Given the description of an element on the screen output the (x, y) to click on. 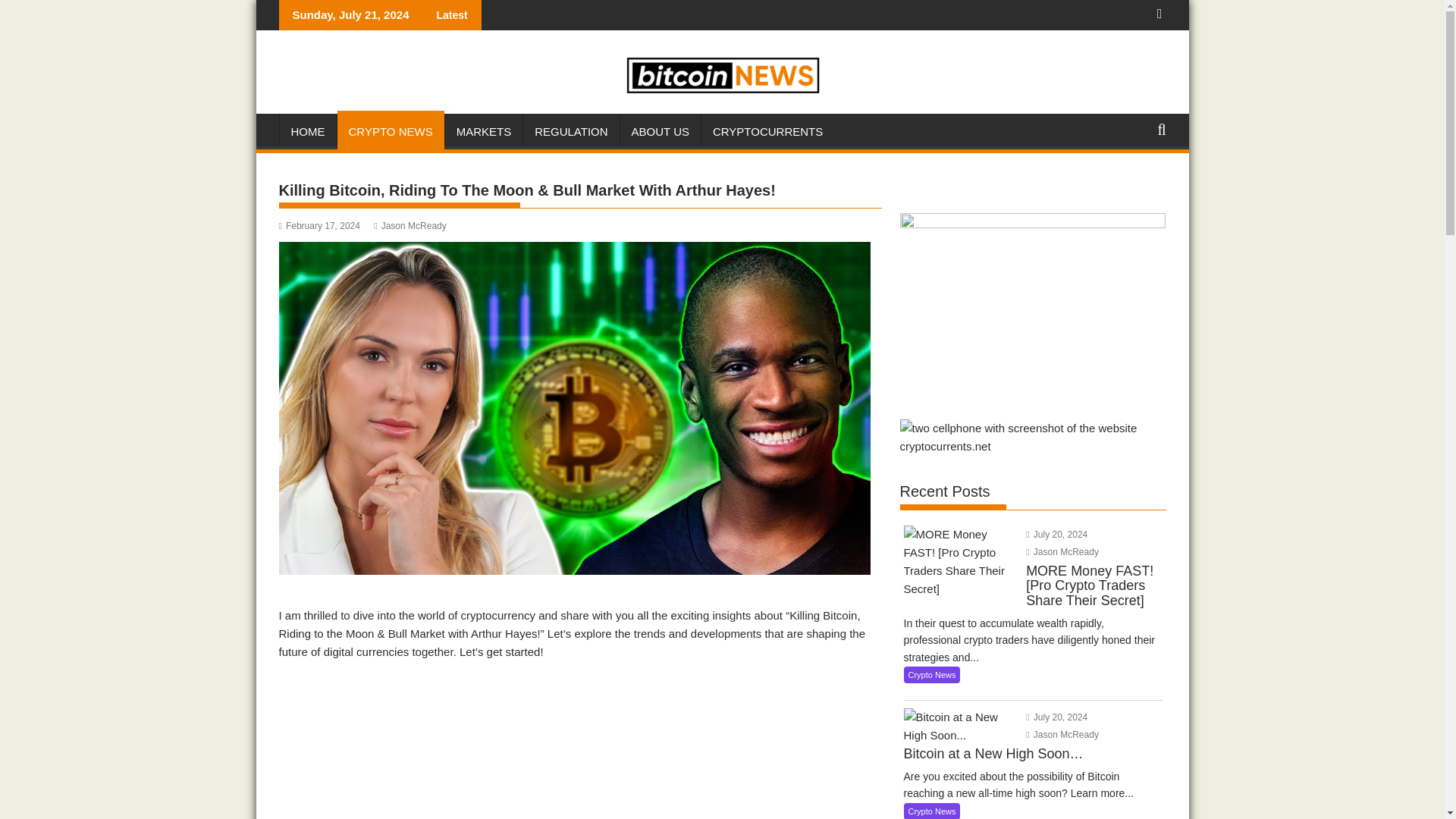
YouTube video player (580, 746)
CRYPTO NEWS (390, 131)
ABOUT US (660, 131)
MARKETS (483, 131)
CRYPTOCURRENTS (767, 131)
Jason McReady (409, 225)
February 17, 2024 (319, 225)
HOME (307, 131)
REGULATION (570, 131)
